Given the description of an element on the screen output the (x, y) to click on. 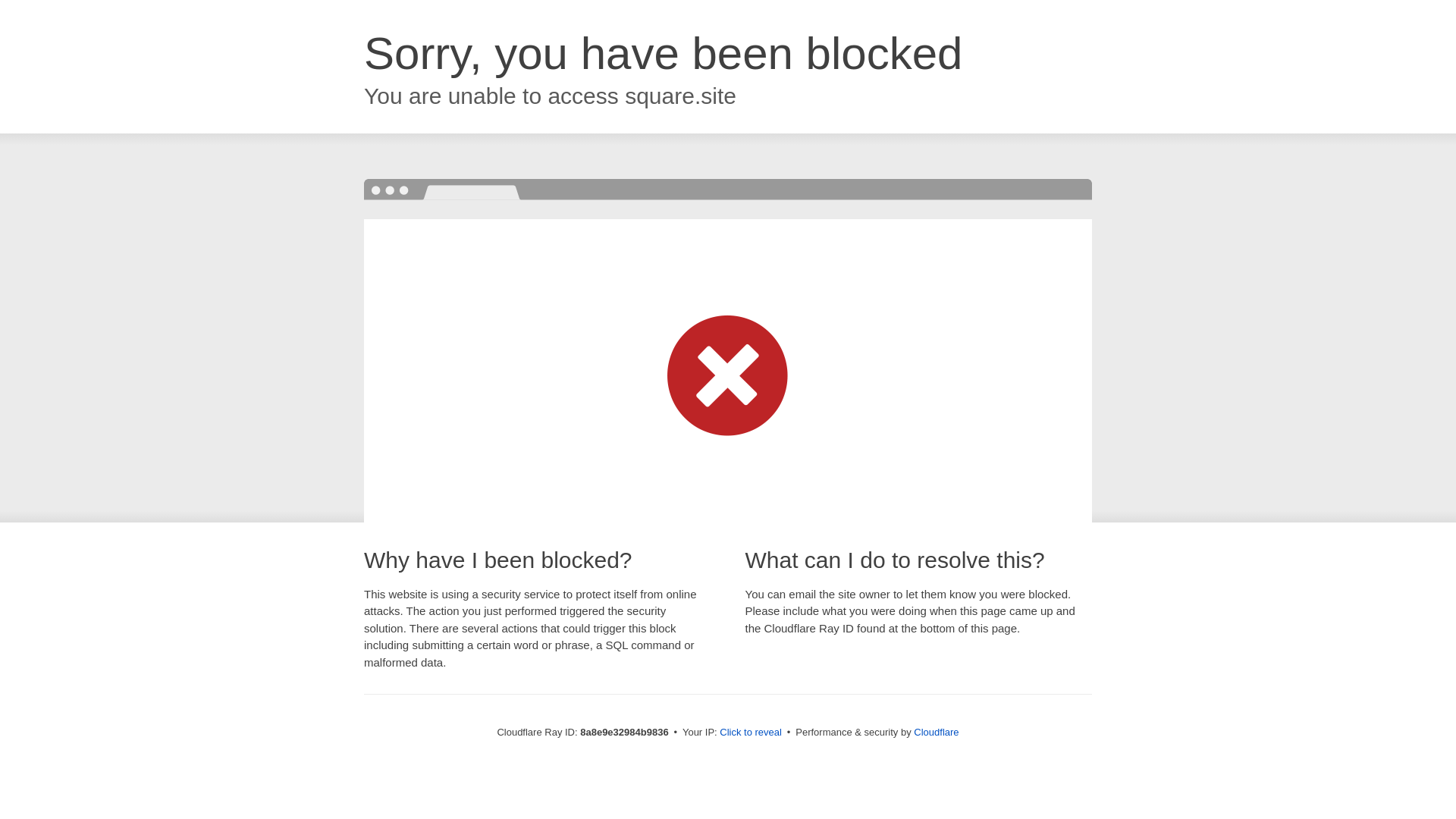
Click to reveal (750, 732)
Cloudflare (936, 731)
